Given the description of an element on the screen output the (x, y) to click on. 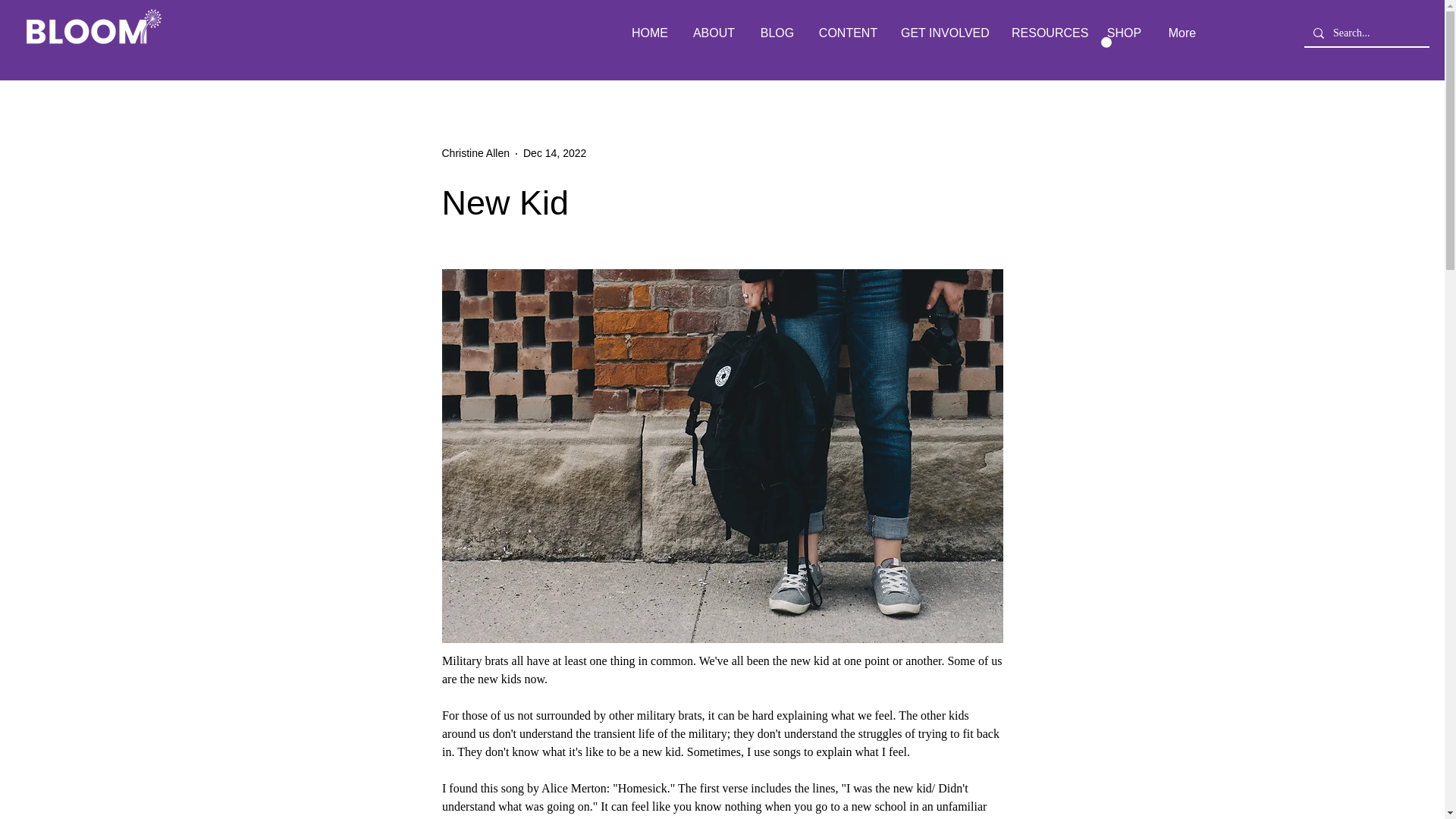
SHOP (1123, 33)
HOME (649, 33)
Christine Allen (475, 153)
Dec 14, 2022 (554, 152)
ABOUT (713, 33)
BLOG (777, 33)
Christine Allen (475, 153)
